Given the description of an element on the screen output the (x, y) to click on. 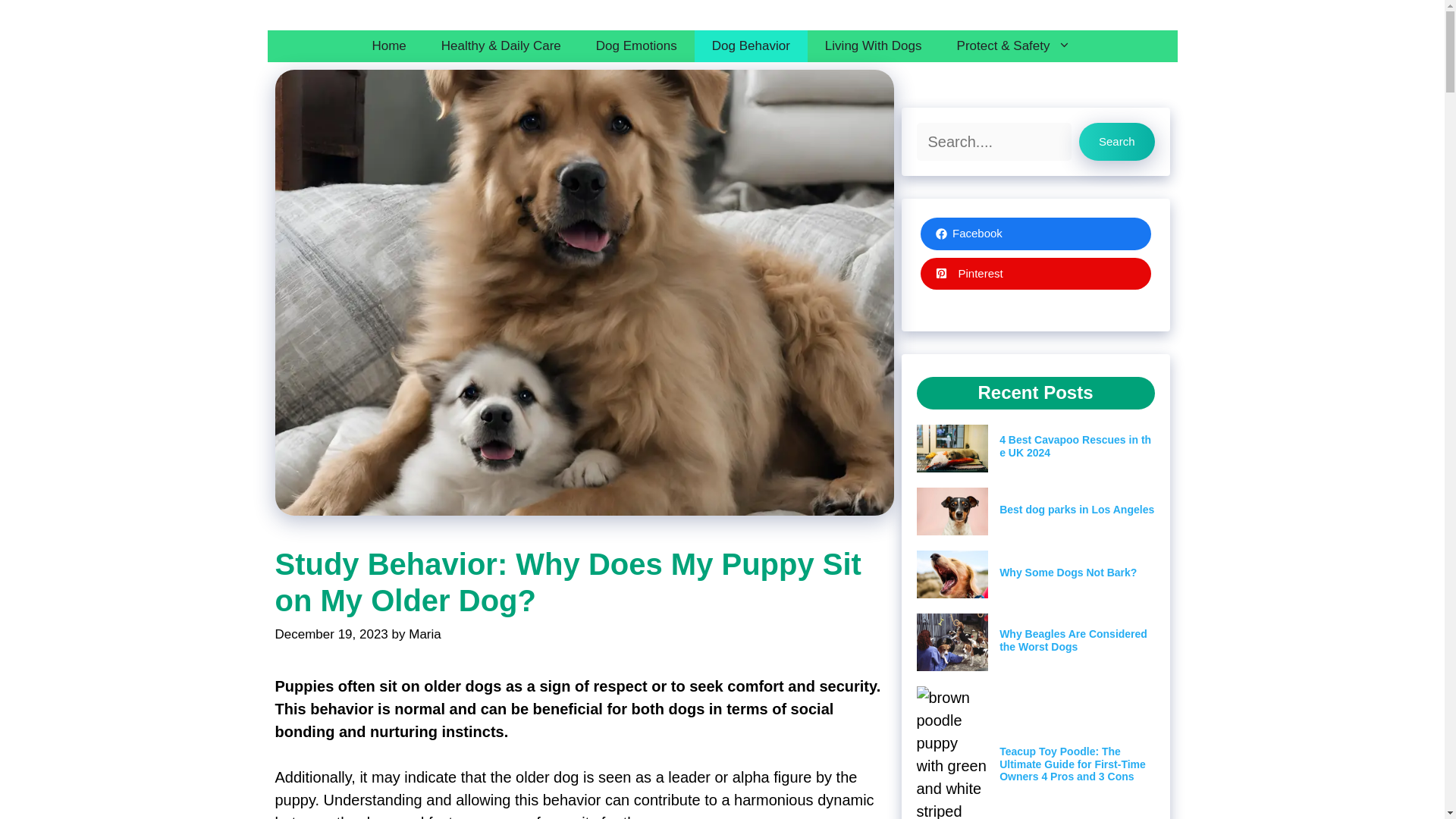
Living With Dogs (873, 46)
Dog Behavior (751, 46)
Why Some Dogs Not Bark? (1067, 572)
View all posts by Maria (425, 634)
Why Beagles Are Considered the Worst Dogs (1072, 640)
Pinterest (1035, 273)
Home (388, 46)
Dog Emotions (636, 46)
4 Best Cavapoo Rescues in the UK 2024 (1074, 446)
Search (1116, 141)
Facebook (1035, 233)
Best dog parks in Los Angeles (1076, 509)
Maria (425, 634)
